Given the description of an element on the screen output the (x, y) to click on. 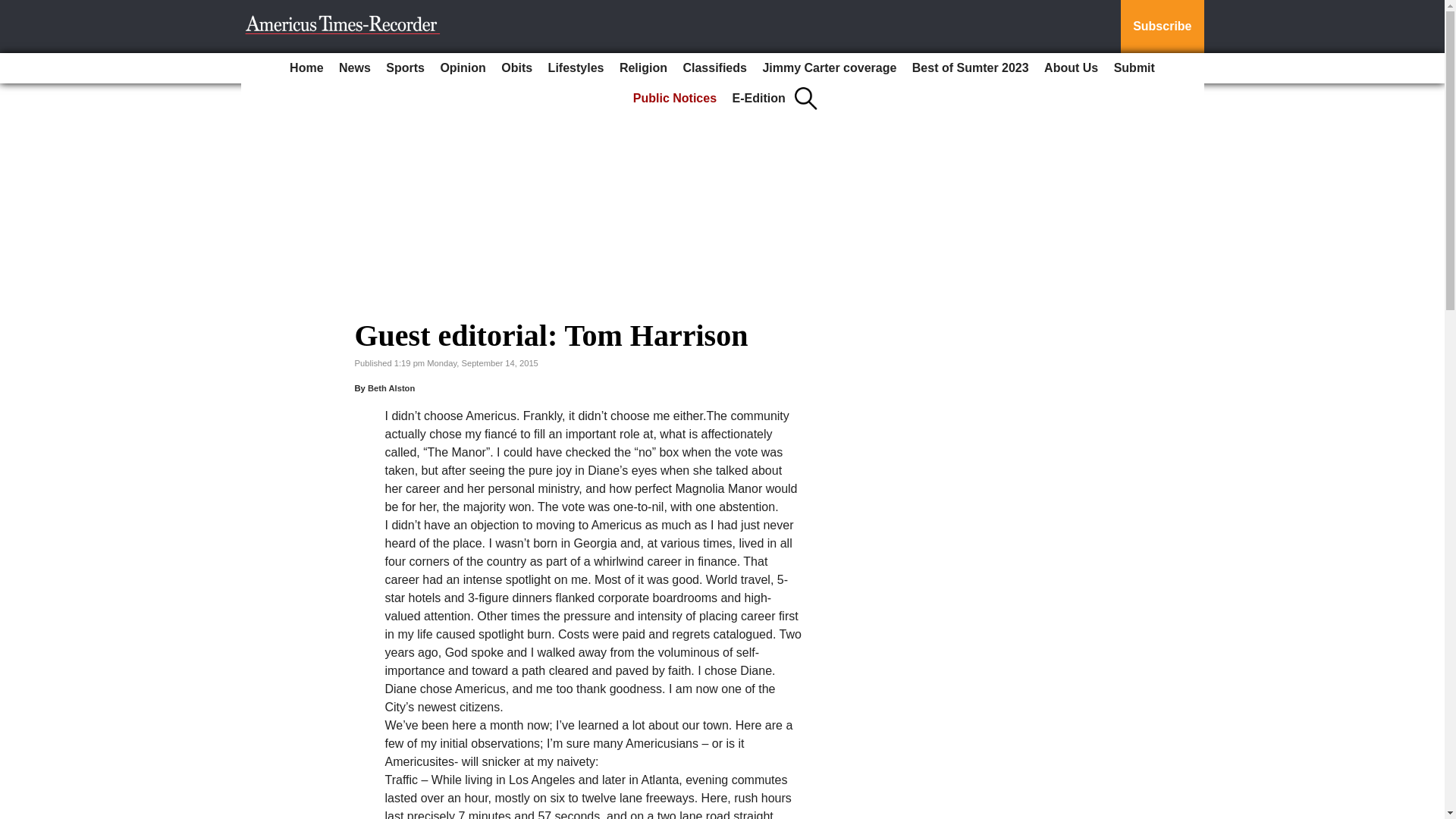
Opinion (462, 68)
Public Notices (674, 98)
Subscribe (1162, 26)
Classifieds (714, 68)
Jimmy Carter coverage (828, 68)
Lifestyles (575, 68)
Religion (642, 68)
Best of Sumter 2023 (970, 68)
Sports (405, 68)
Obits (516, 68)
News (355, 68)
About Us (1070, 68)
Go (13, 9)
Submit (1134, 68)
Home (306, 68)
